Given the description of an element on the screen output the (x, y) to click on. 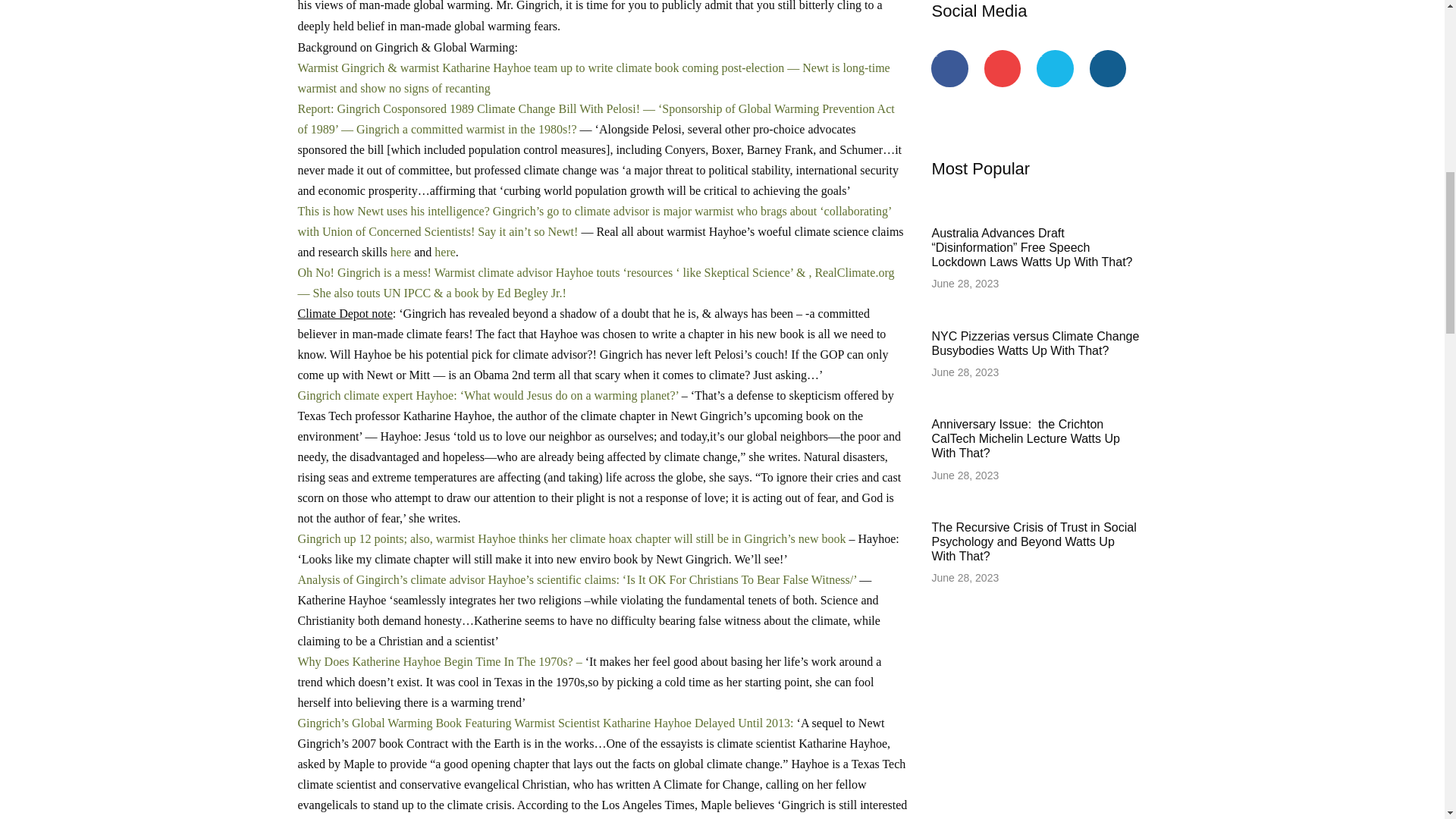
here (401, 251)
here (444, 251)
